Given the description of an element on the screen output the (x, y) to click on. 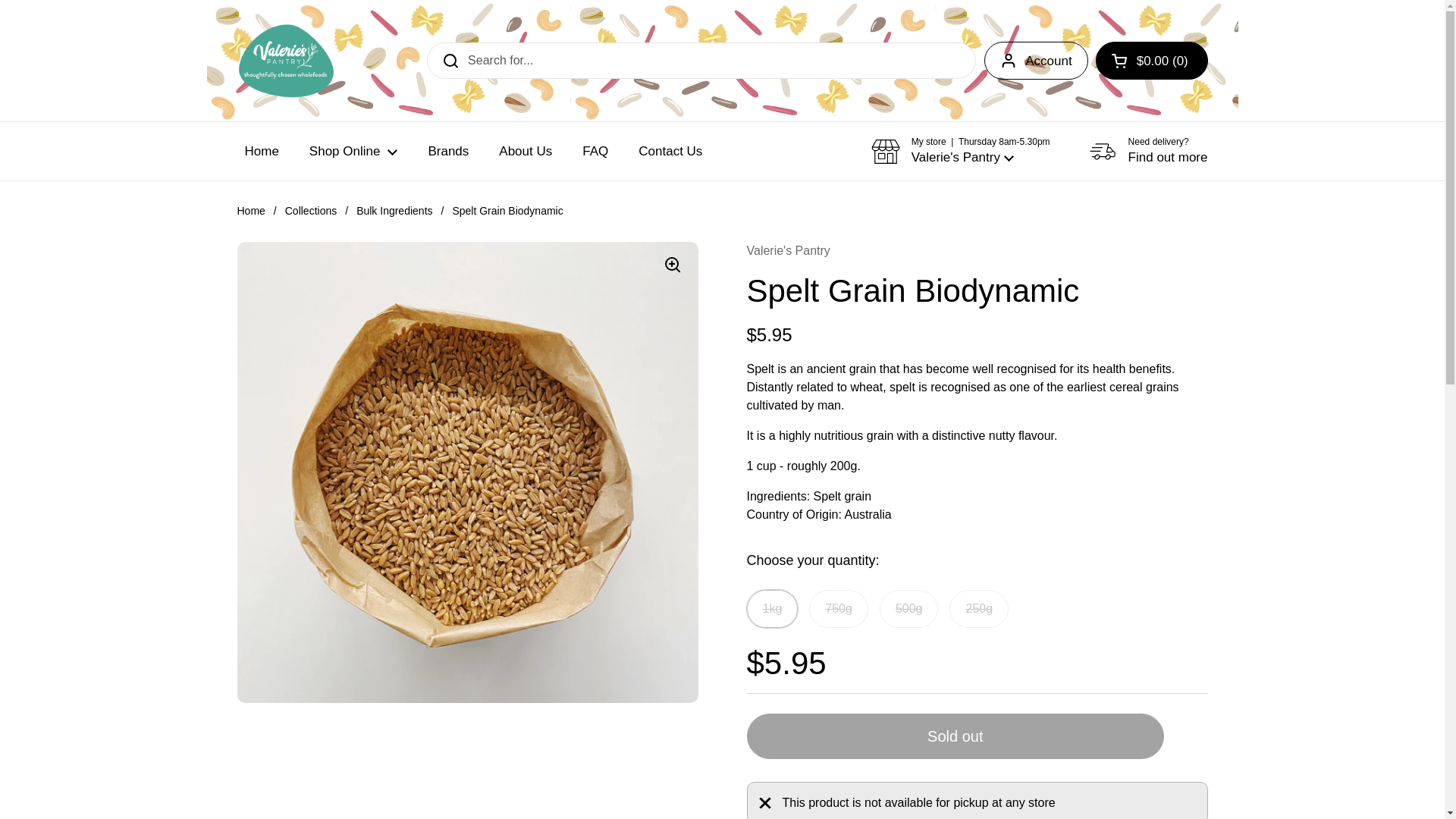
Open cart (1152, 60)
Valerie's Pantry (284, 60)
Account (1035, 60)
Shop Online (353, 150)
Home (261, 150)
